Given the description of an element on the screen output the (x, y) to click on. 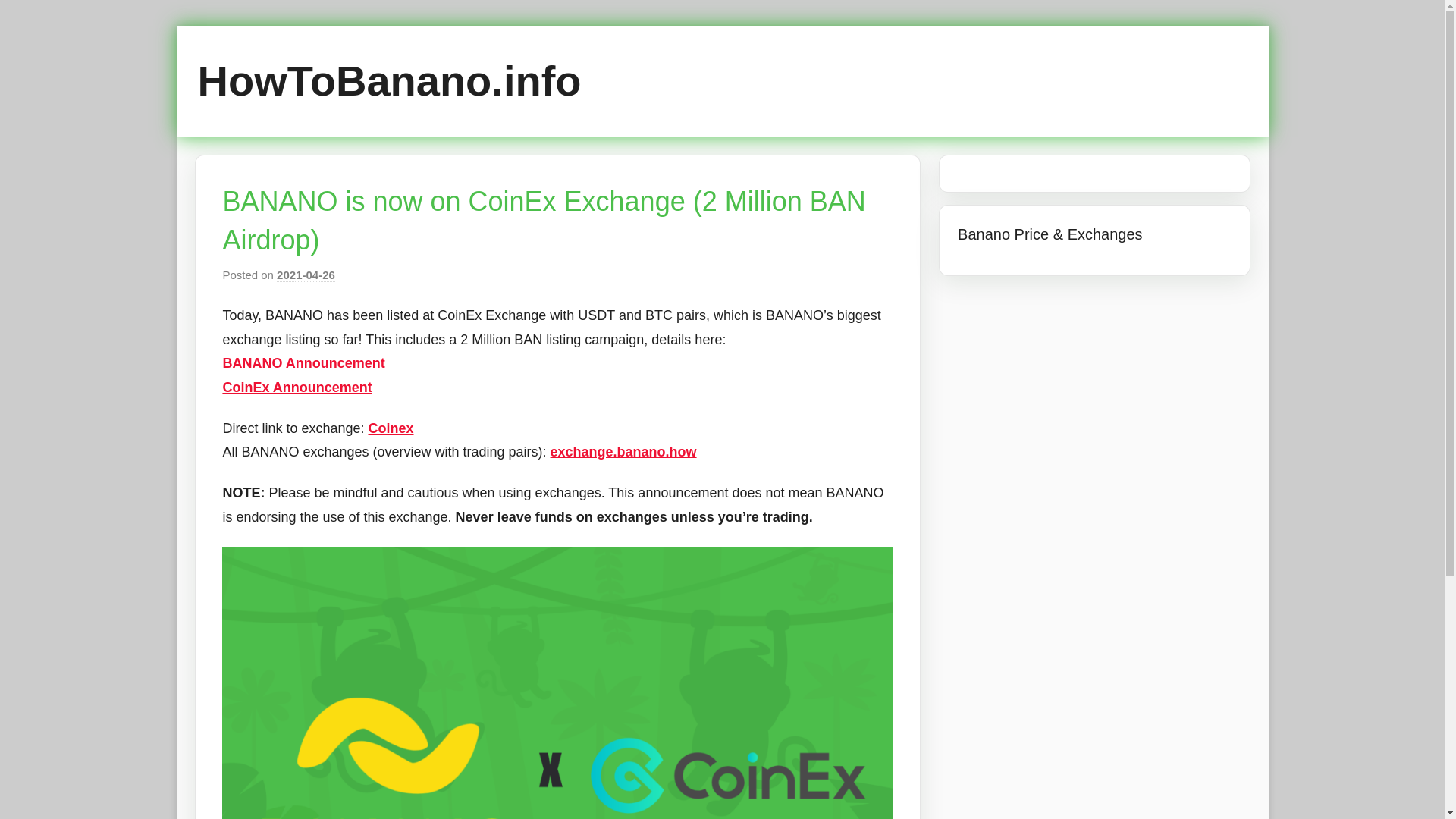
Coinex (390, 427)
CoinEx Announcement (296, 387)
2021-04-26 (305, 274)
HowToBanano.info (388, 80)
BANANO Announcement (303, 363)
exchange.banano.how (623, 451)
